Given the description of an element on the screen output the (x, y) to click on. 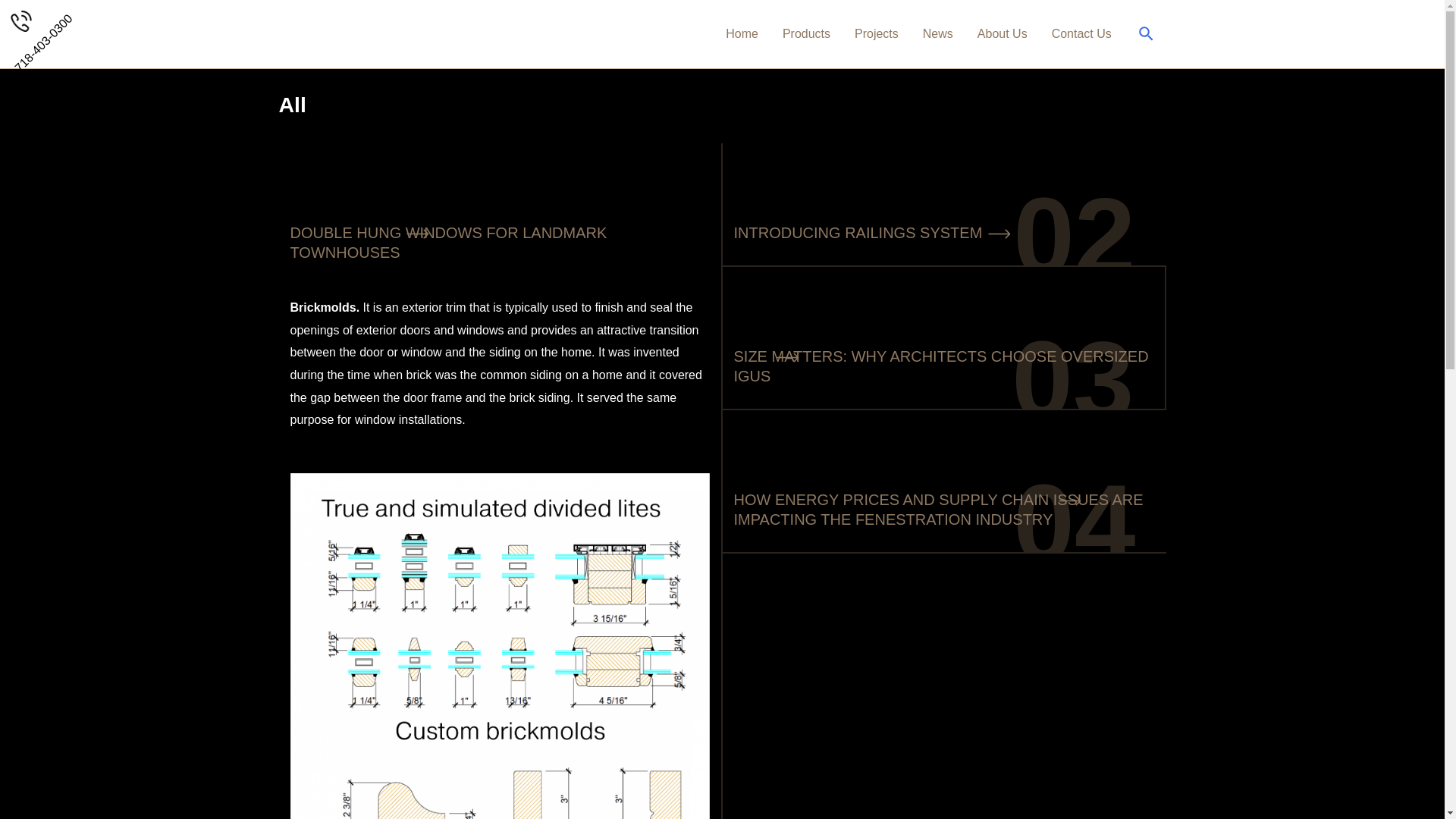
INTRODUCING RAILINGS SYSTEM (857, 232)
DOUBLE HUNG WINDOWS FOR LANDMARK TOWNHOUSES (448, 242)
Contact Us (1081, 33)
About Us (1002, 33)
SIZE MATTERS: WHY ARCHITECTS CHOOSE OVERSIZED IGUS (940, 366)
Products (806, 33)
Projects (877, 33)
